Given the description of an element on the screen output the (x, y) to click on. 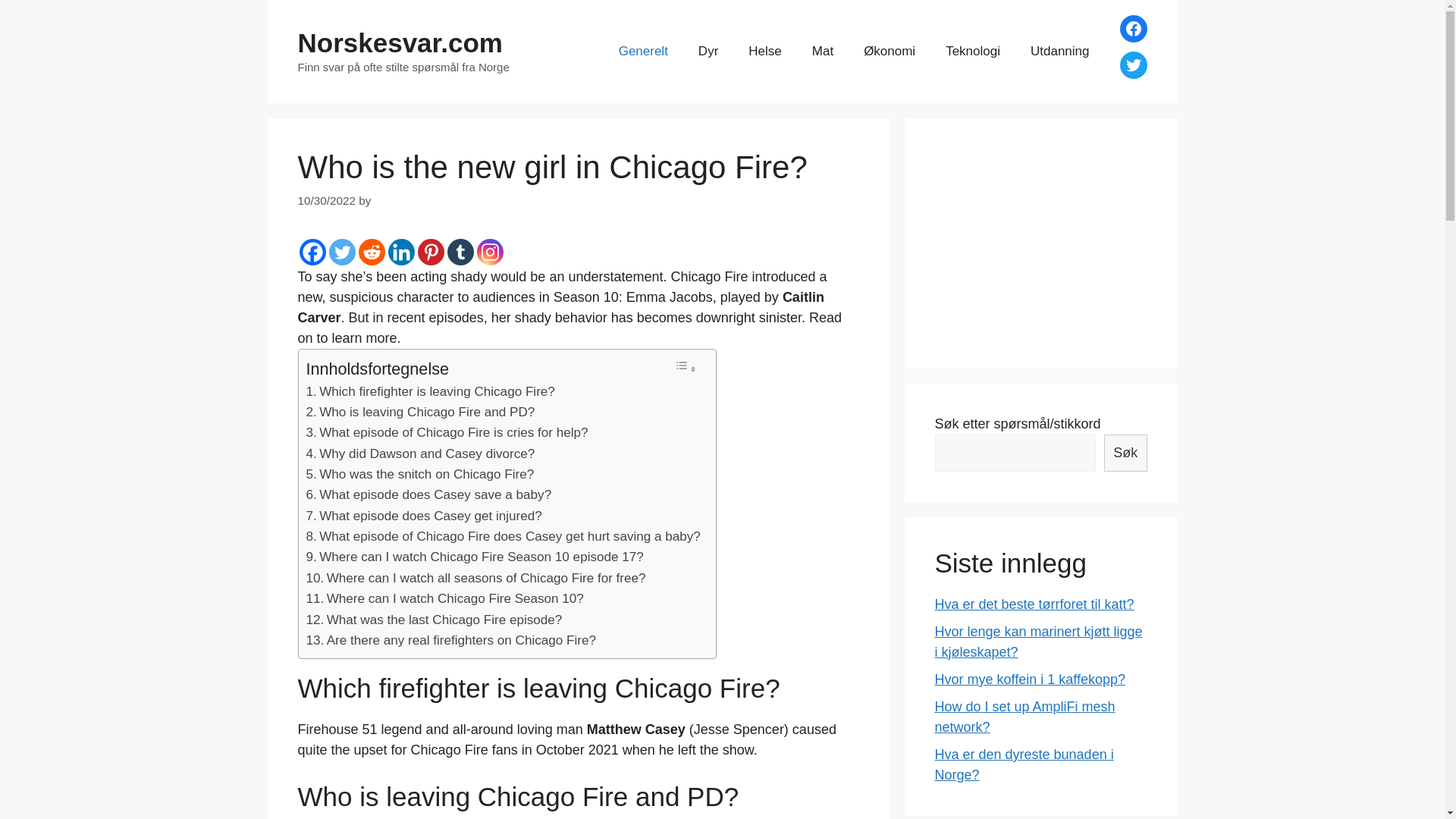
Twitter (342, 252)
Where can I watch Chicago Fire Season 10? (454, 598)
What episode does Casey save a baby? (434, 494)
Reddit (371, 252)
Teknologi (972, 51)
Instagram (489, 252)
Linkedin (401, 252)
Why did Dawson and Casey divorce? (426, 453)
Helse (764, 51)
